Given the description of an element on the screen output the (x, y) to click on. 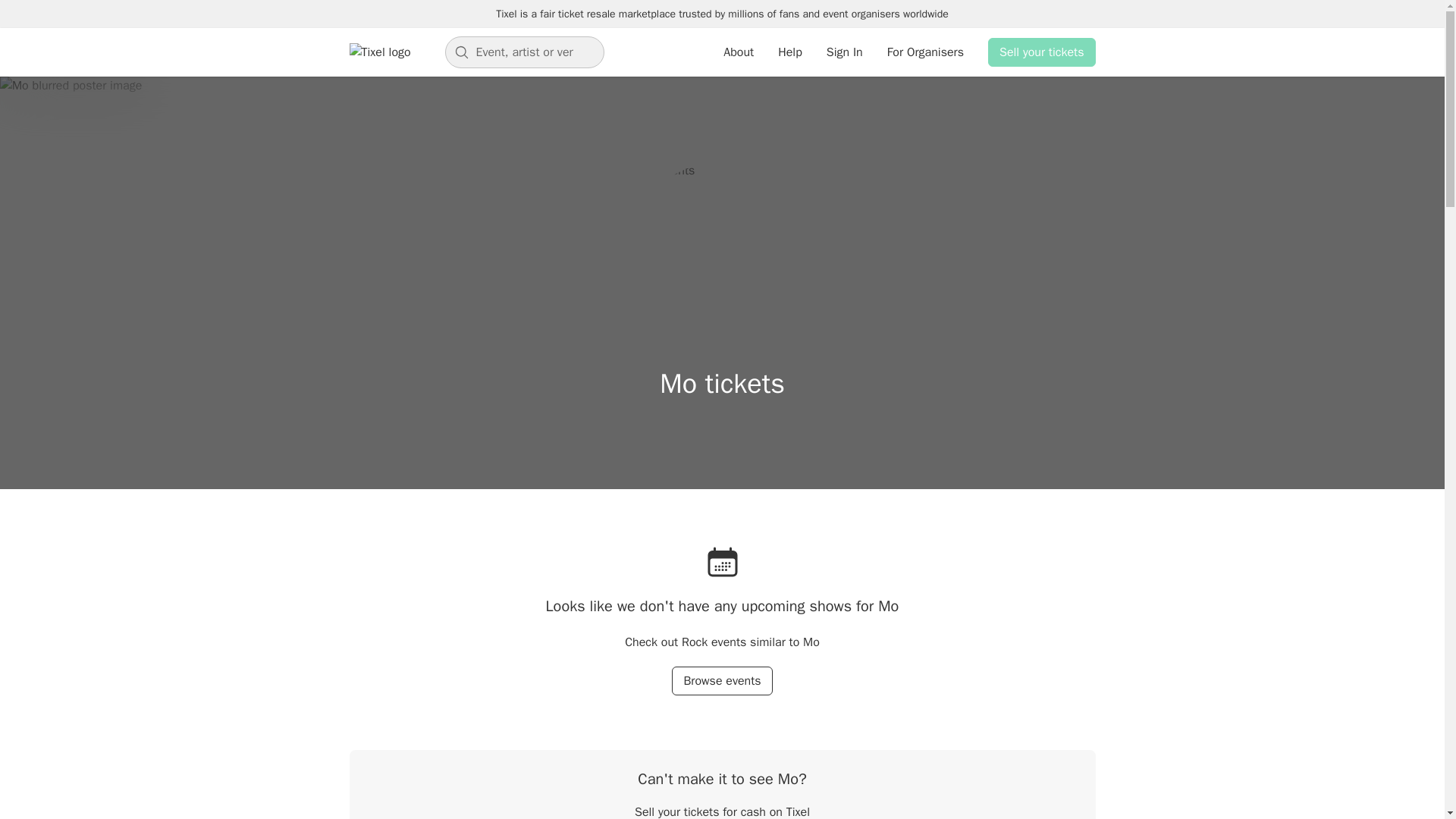
Help (789, 52)
About (738, 52)
Sign In (845, 52)
Sell your tickets (1042, 51)
For Organisers (924, 52)
Browse events (721, 680)
